Given the description of an element on the screen output the (x, y) to click on. 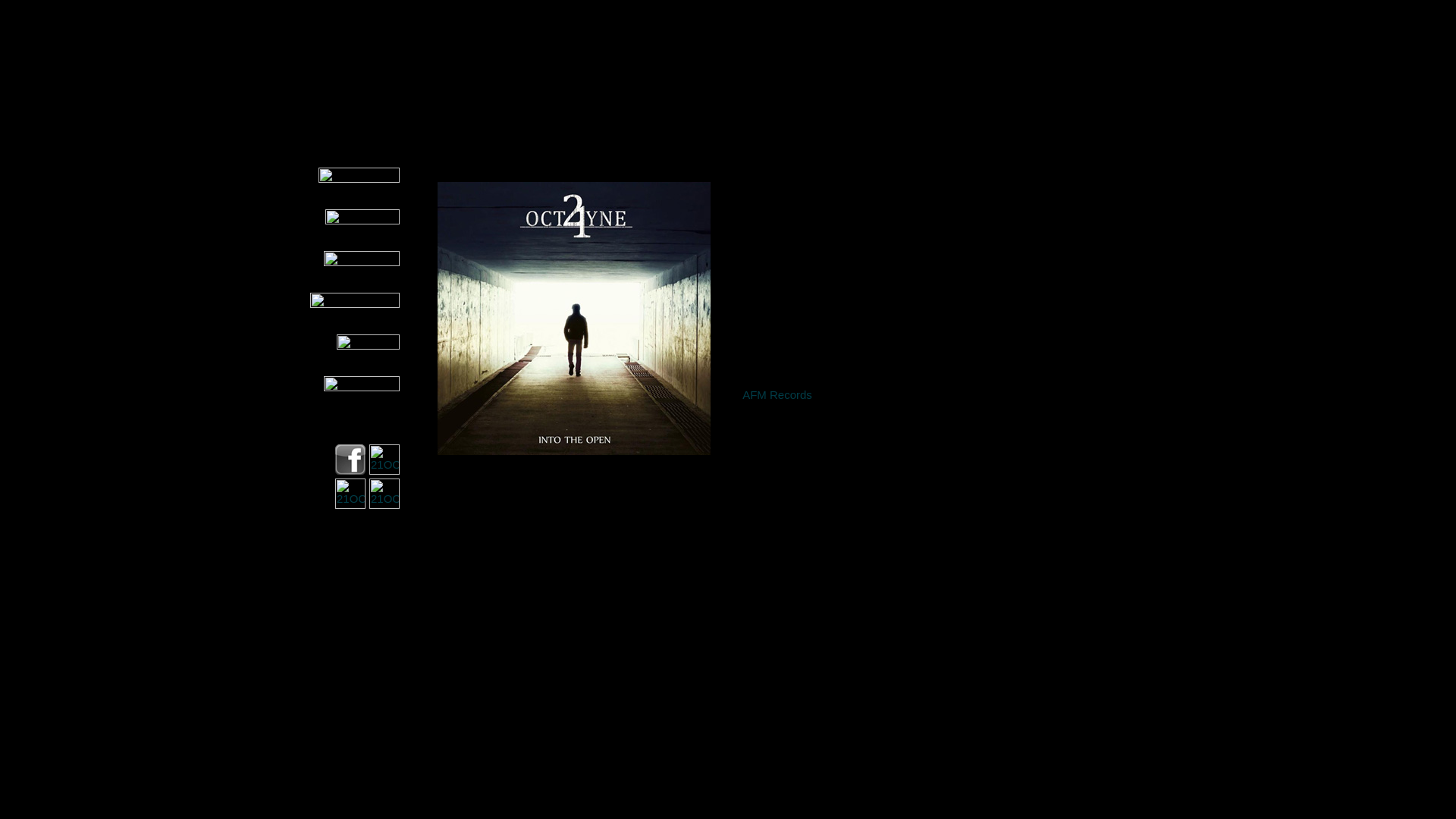
AFM Records Element type: text (777, 394)
